Given the description of an element on the screen output the (x, y) to click on. 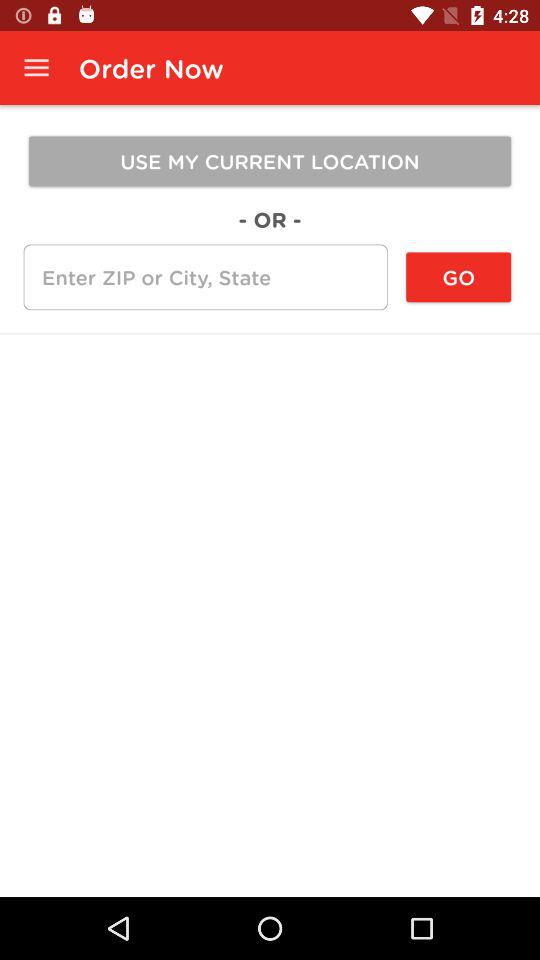
scroll to the use my current icon (269, 161)
